Given the description of an element on the screen output the (x, y) to click on. 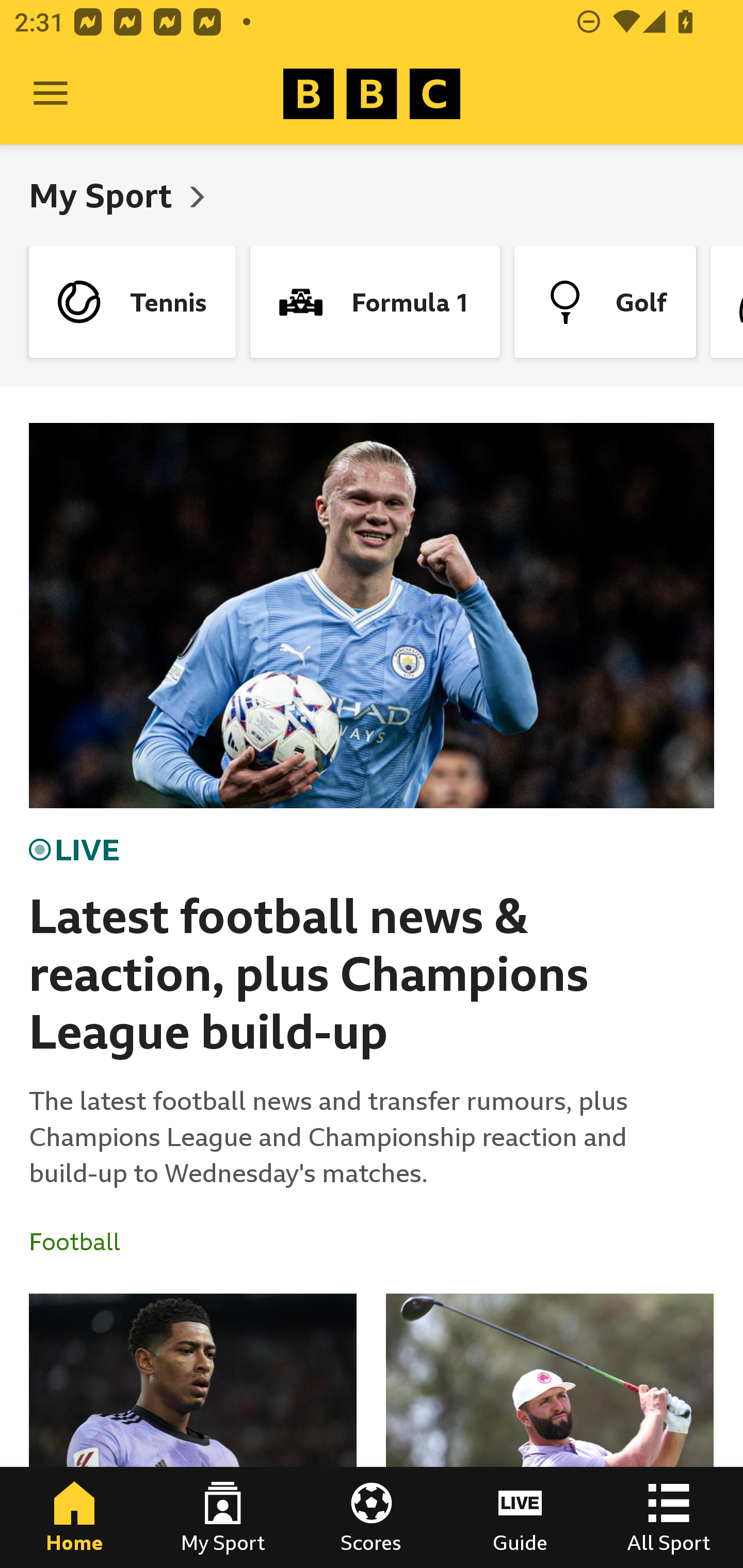
Open Menu (50, 93)
My Sport (104, 195)
Football In the section Football (81, 1241)
Real midfielder Bellingham banned for two games (192, 1430)
My Sport (222, 1517)
Scores (371, 1517)
Guide (519, 1517)
All Sport (668, 1517)
